Given the description of an element on the screen output the (x, y) to click on. 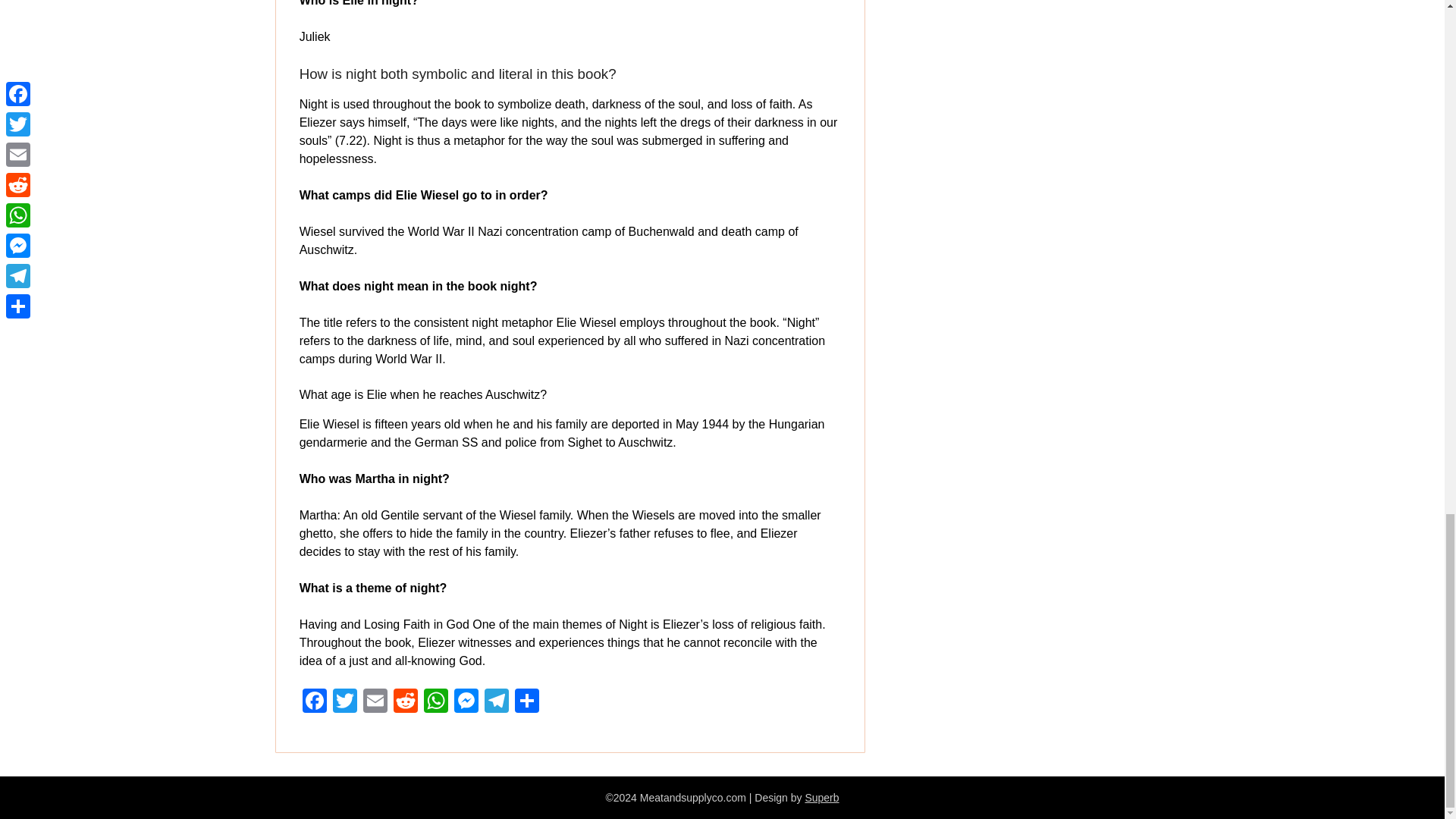
Email (374, 702)
Messenger (466, 702)
Messenger (466, 702)
Facebook (314, 702)
Facebook (314, 702)
WhatsApp (435, 702)
WhatsApp (435, 702)
Twitter (344, 702)
Email (374, 702)
Superb (821, 797)
